Given the description of an element on the screen output the (x, y) to click on. 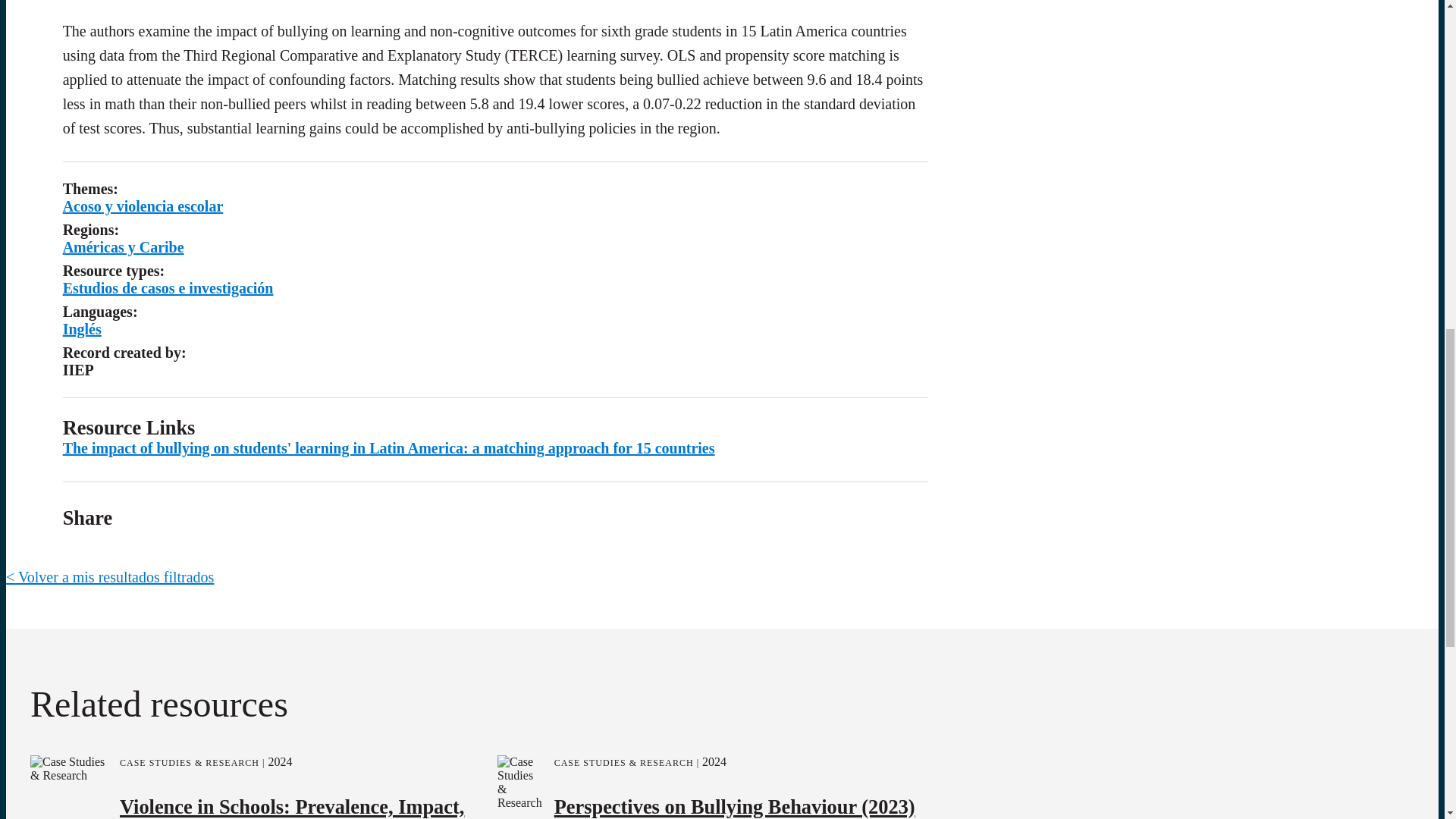
Violence in Schools: Prevalence, Impact, and Interventions (291, 805)
Acoso y violencia escolar (143, 206)
